Given the description of an element on the screen output the (x, y) to click on. 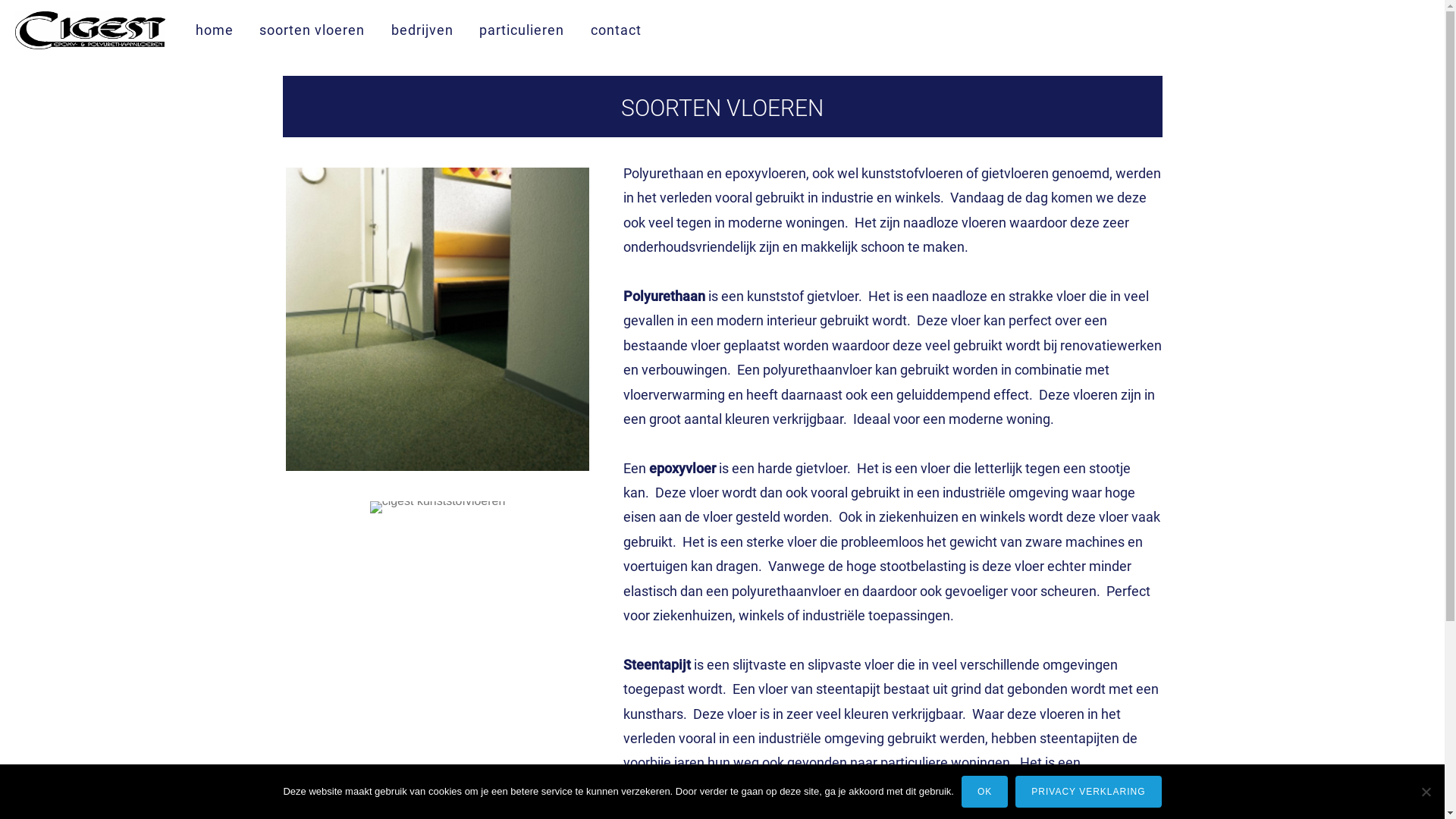
cigest kunststofvloeren Element type: hover (437, 318)
particulieren Element type: text (521, 30)
PRIVACY VERKLARING Element type: text (1088, 791)
soorten vloeren Element type: text (311, 30)
bedrijven Element type: text (422, 30)
cigest kunststofvloeren Element type: hover (437, 507)
home Element type: text (214, 30)
OK Element type: text (984, 791)
contact Element type: text (616, 30)
Nee Element type: hover (1425, 791)
